Given the description of an element on the screen output the (x, y) to click on. 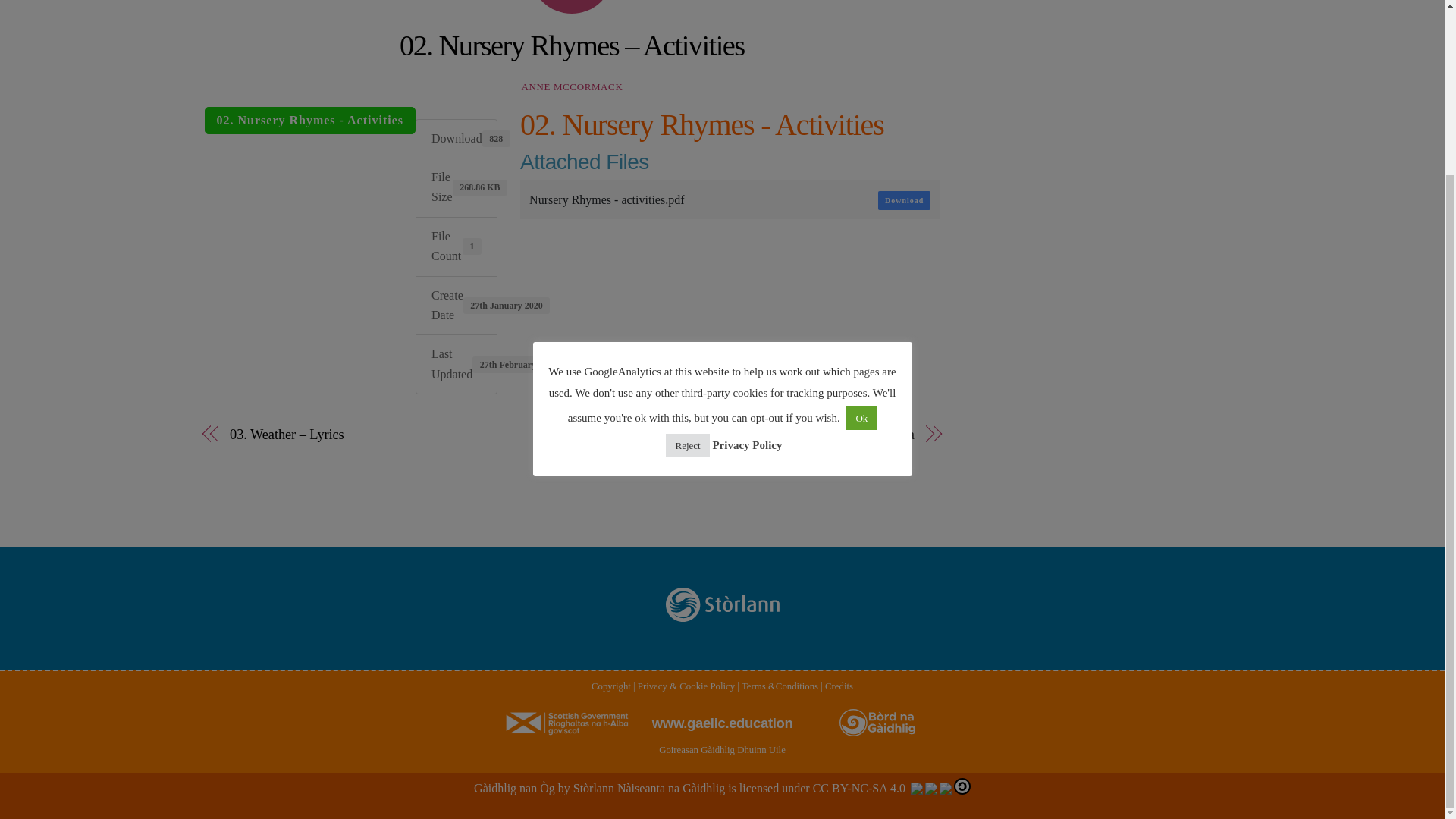
scottish-government-2020 (566, 722)
Copyright (610, 685)
ANNE MCCORMACK (572, 86)
02. Nursery Rhymes - Activities (310, 120)
www.gaelic.education (722, 722)
Credits (839, 685)
Download (903, 199)
BnG-logo-white (877, 723)
